Given the description of an element on the screen output the (x, y) to click on. 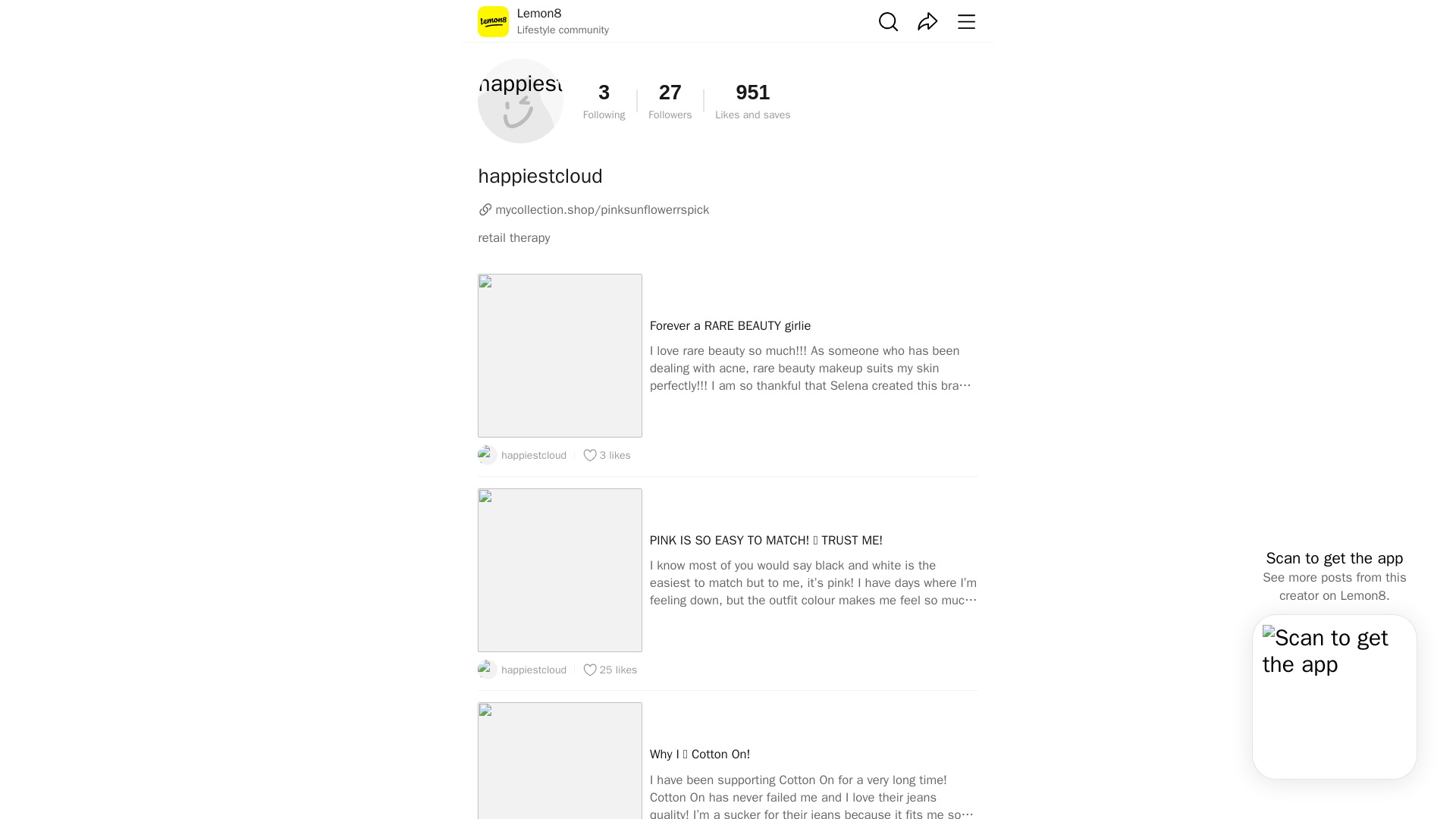
happiestcloud (603, 100)
happiestcloud (521, 455)
